Given the description of an element on the screen output the (x, y) to click on. 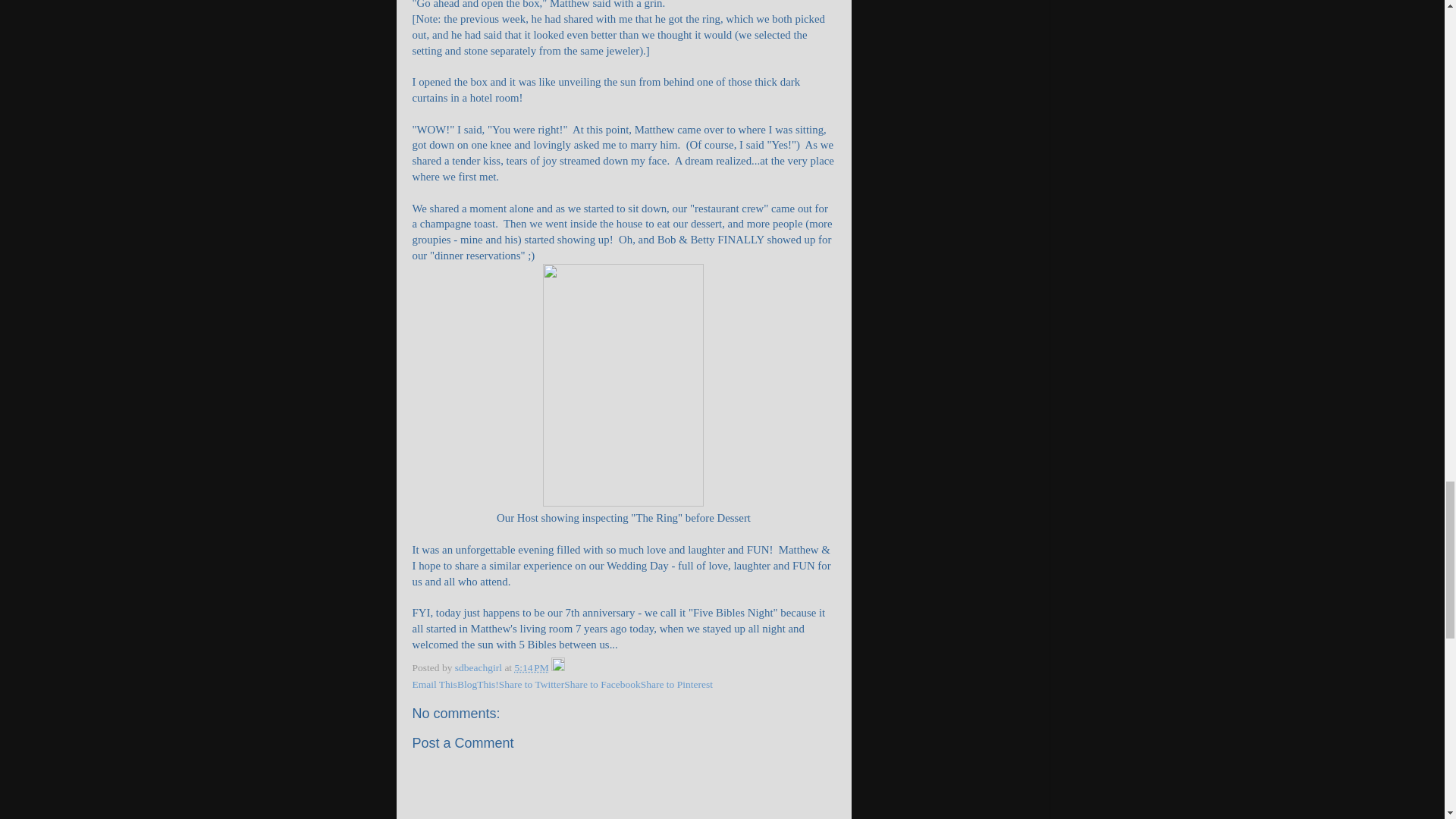
sdbeachgirl (479, 667)
BlogThis! (478, 684)
permanent link (530, 667)
Share to Twitter (531, 684)
Share to Pinterest (676, 684)
Share to Facebook (602, 684)
author profile (479, 667)
Share to Facebook (602, 684)
Email This (434, 684)
Share to Pinterest (676, 684)
Edit Post (557, 667)
BlogThis! (478, 684)
Share to Twitter (531, 684)
Email This (434, 684)
